Given the description of an element on the screen output the (x, y) to click on. 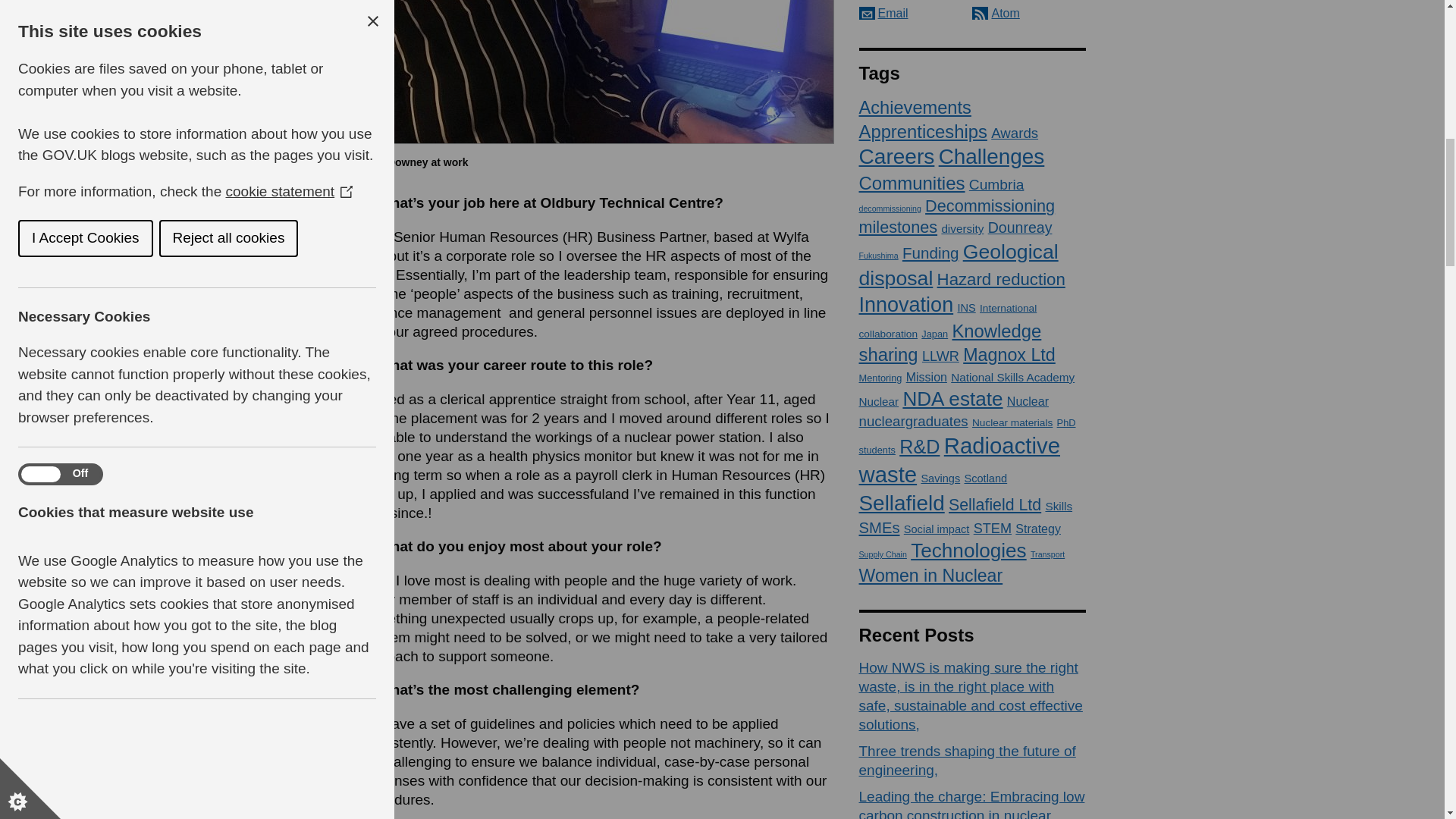
Achievements (915, 107)
Apprenticeships (923, 131)
Careers (896, 156)
Atom (995, 12)
Awards (1014, 132)
Email (883, 12)
